Given the description of an element on the screen output the (x, y) to click on. 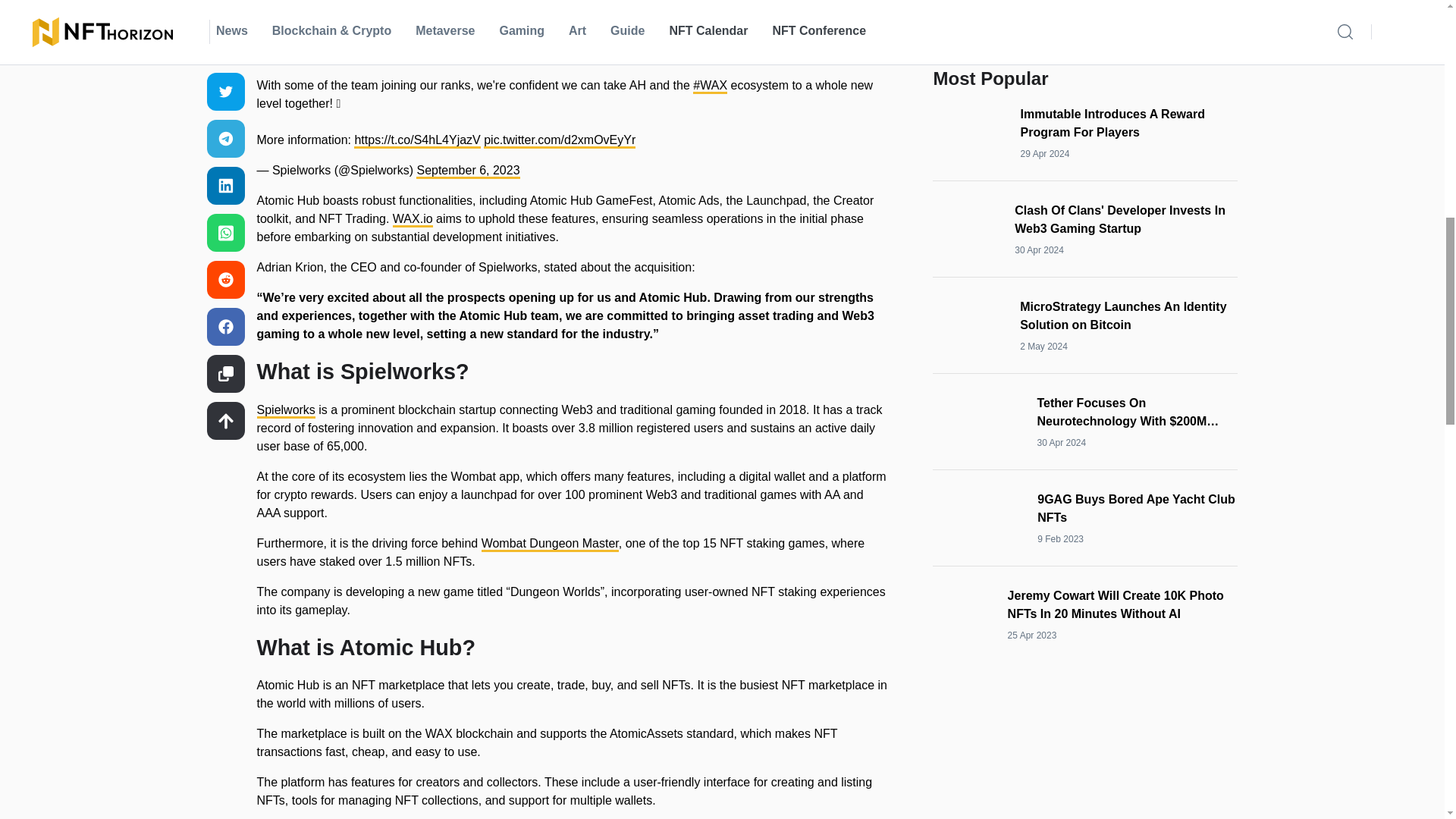
WAX.io (412, 219)
September 6, 2023 (467, 171)
Spielworks (285, 410)
ngeon Master (581, 544)
Wombat D (509, 544)
